Given the description of an element on the screen output the (x, y) to click on. 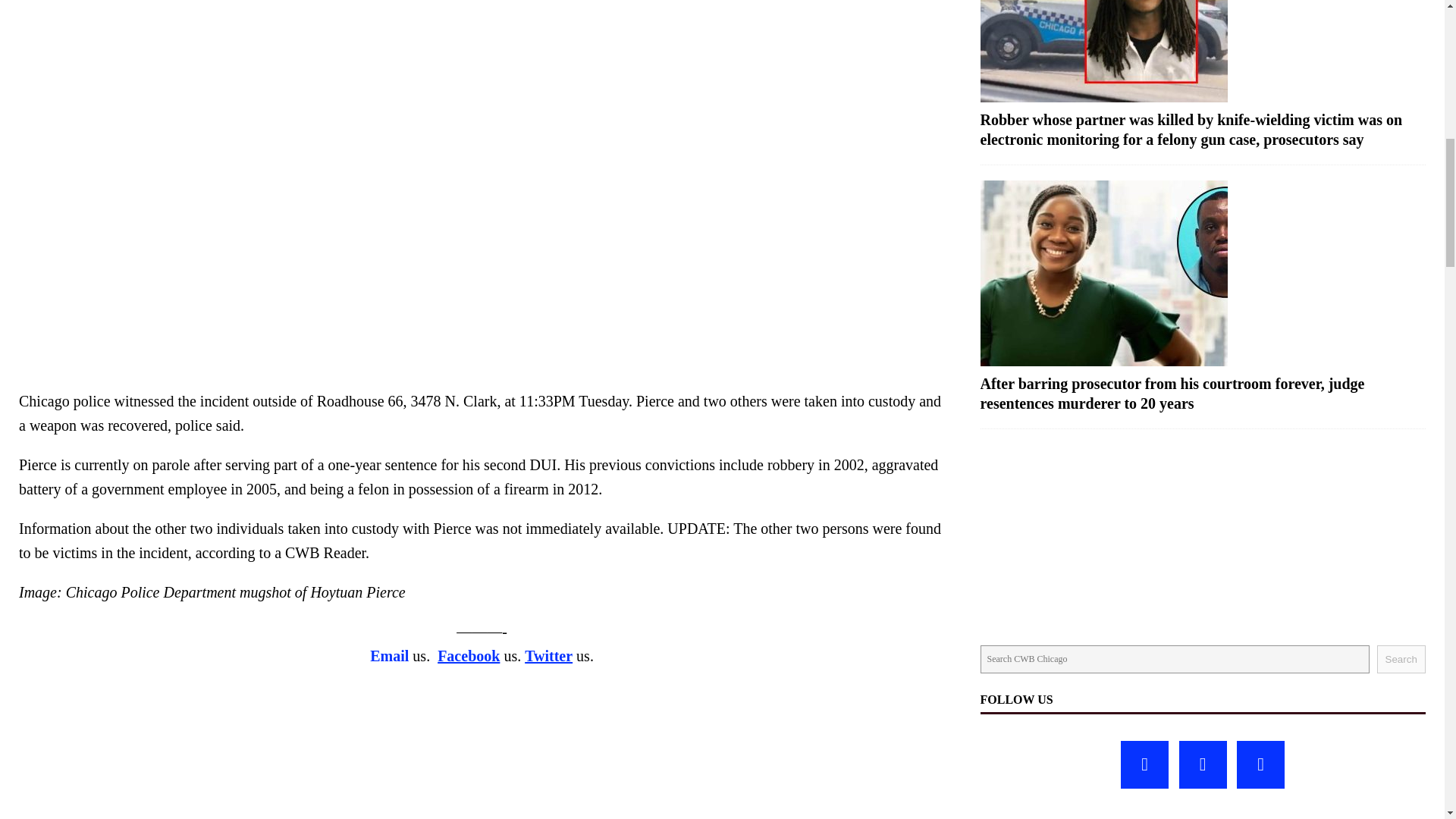
Search (1401, 659)
Email (389, 655)
Facebook (468, 655)
Twitter (548, 655)
